Given the description of an element on the screen output the (x, y) to click on. 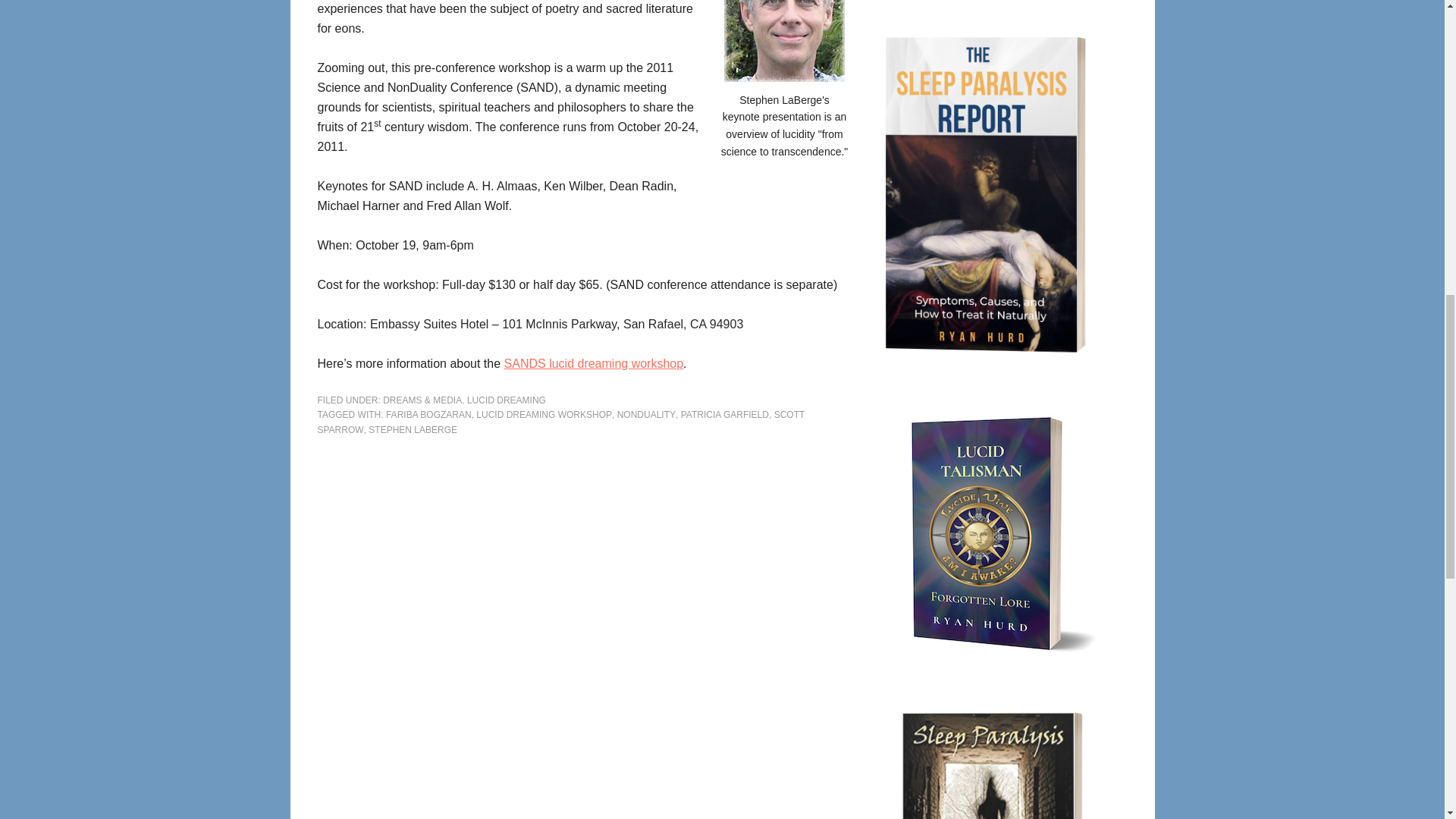
STEPHEN LABERGE (412, 429)
NONDUALITY (646, 414)
PATRICIA GARFIELD (724, 414)
SANDS lucid dreaming workshop (593, 363)
stephen-laBerge-lucid-dreaming (783, 42)
LUCID DREAMING (506, 399)
LUCID DREAMING WORKSHOP (543, 414)
SCOTT SPARROW (561, 421)
FARIBA BOGZARAN (428, 414)
